Given the description of an element on the screen output the (x, y) to click on. 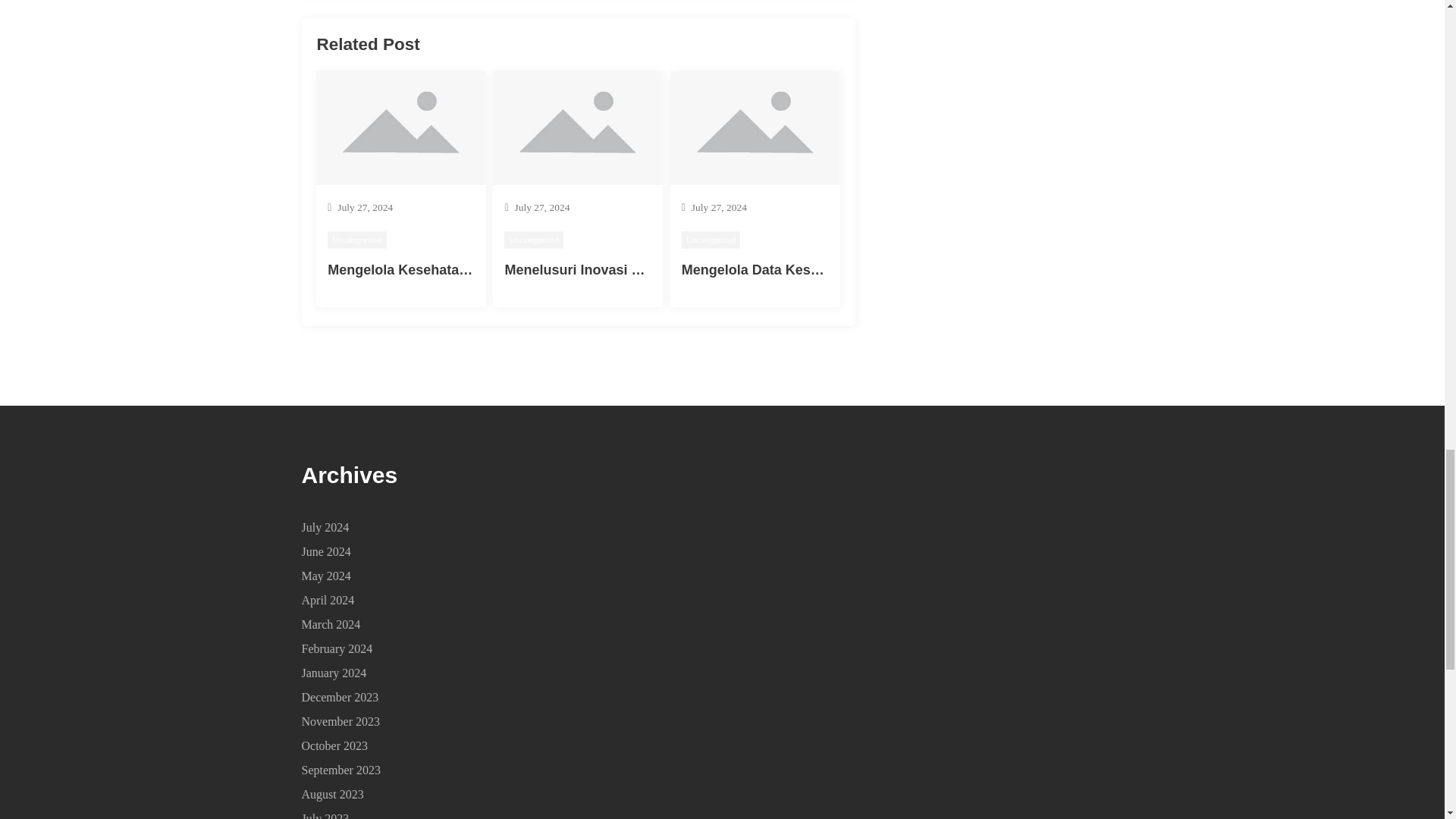
July 2024 (325, 526)
Uncategorized (533, 239)
Uncategorized (357, 239)
Uncategorized (711, 239)
